Given the description of an element on the screen output the (x, y) to click on. 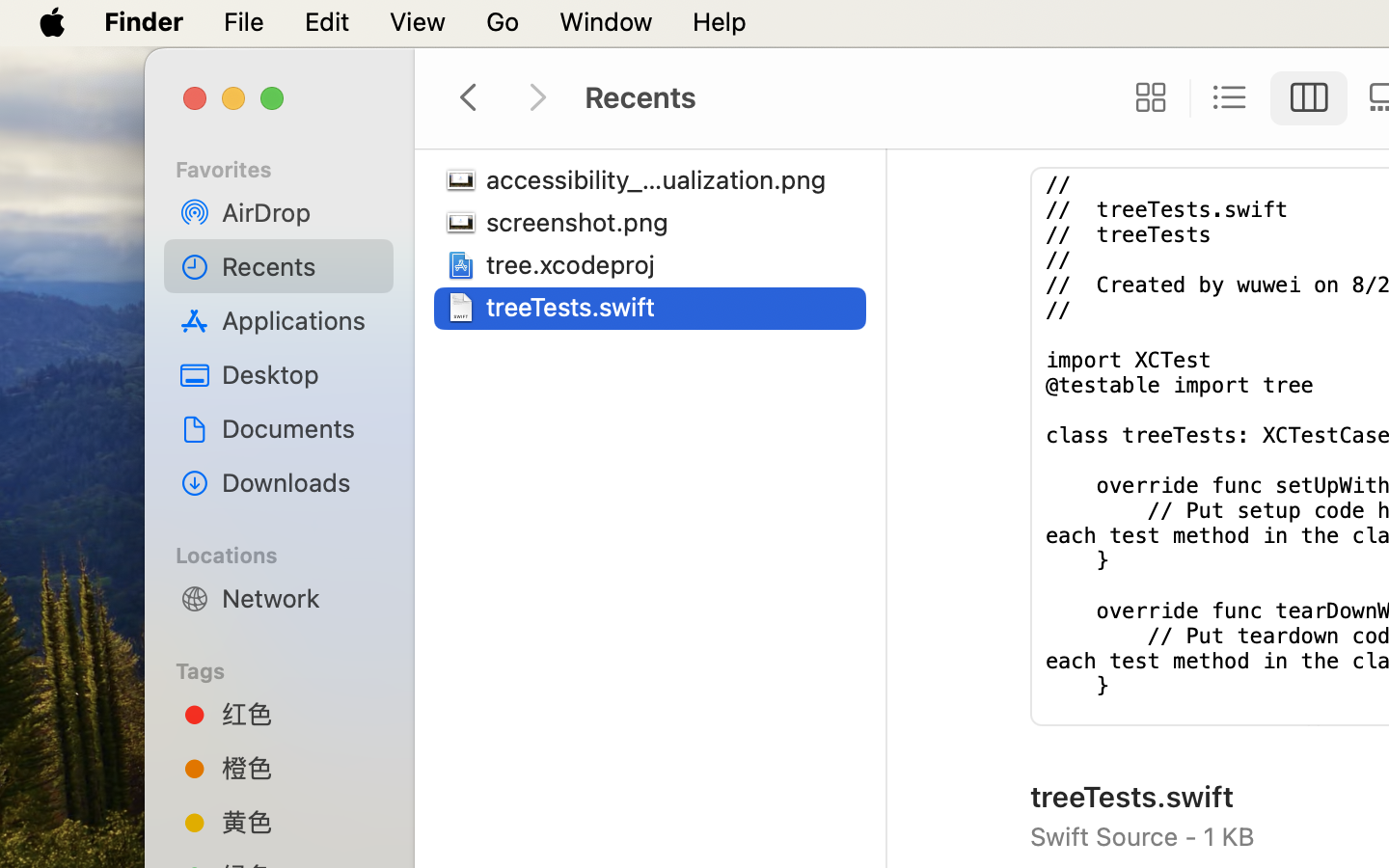
0 Element type: AXRadioButton (1144, 97)
Tags Element type: AXStaticText (289, 668)
tree.xcodeproj Element type: AXTextField (574, 263)
Applications Element type: AXStaticText (299, 319)
Network Element type: AXStaticText (299, 597)
